Given the description of an element on the screen output the (x, y) to click on. 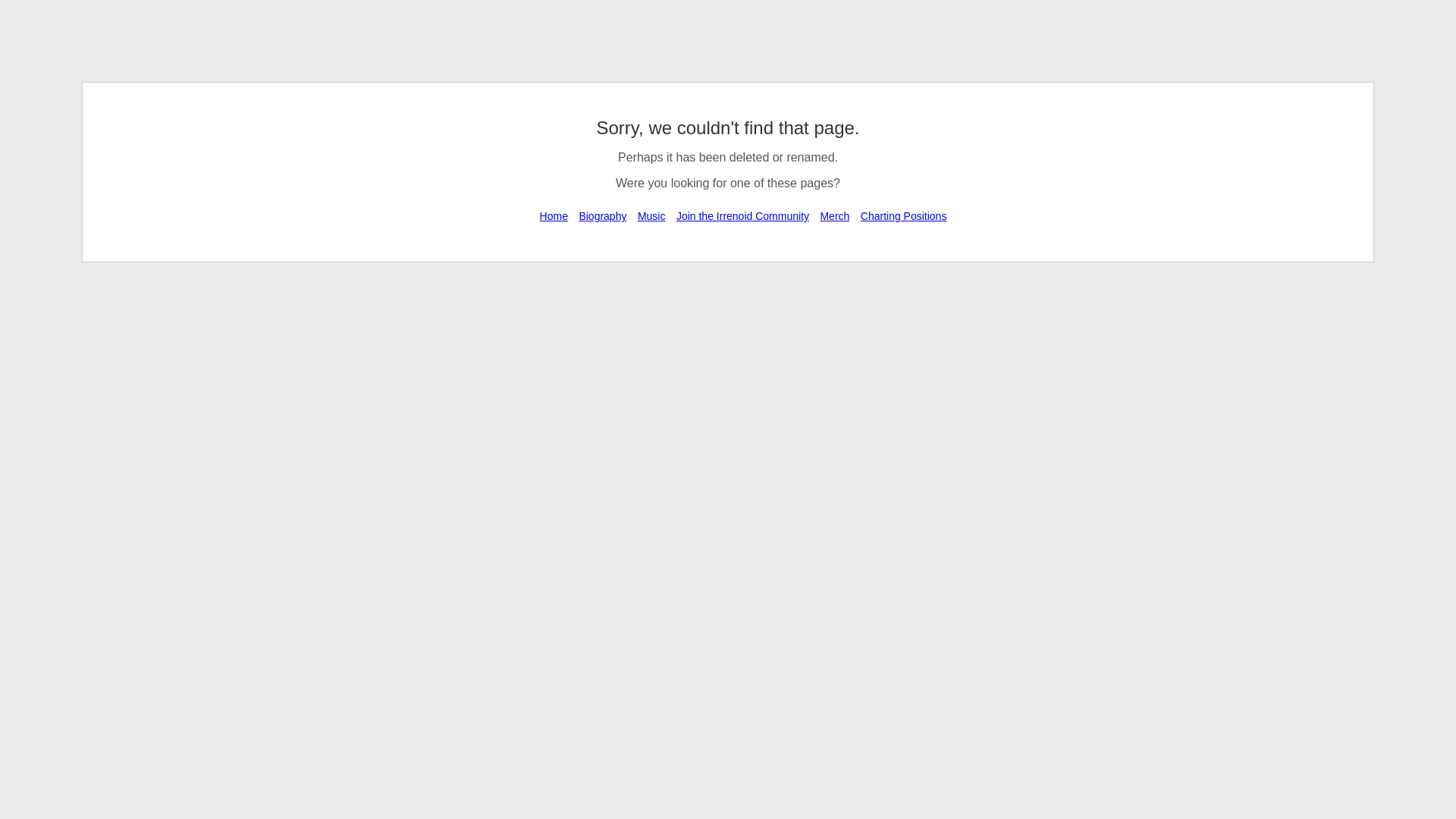
Merch (834, 215)
Music (651, 215)
Biography (602, 215)
Join the Irrenoid Community (742, 215)
Charting Positions (903, 215)
Home (553, 215)
